Given the description of an element on the screen output the (x, y) to click on. 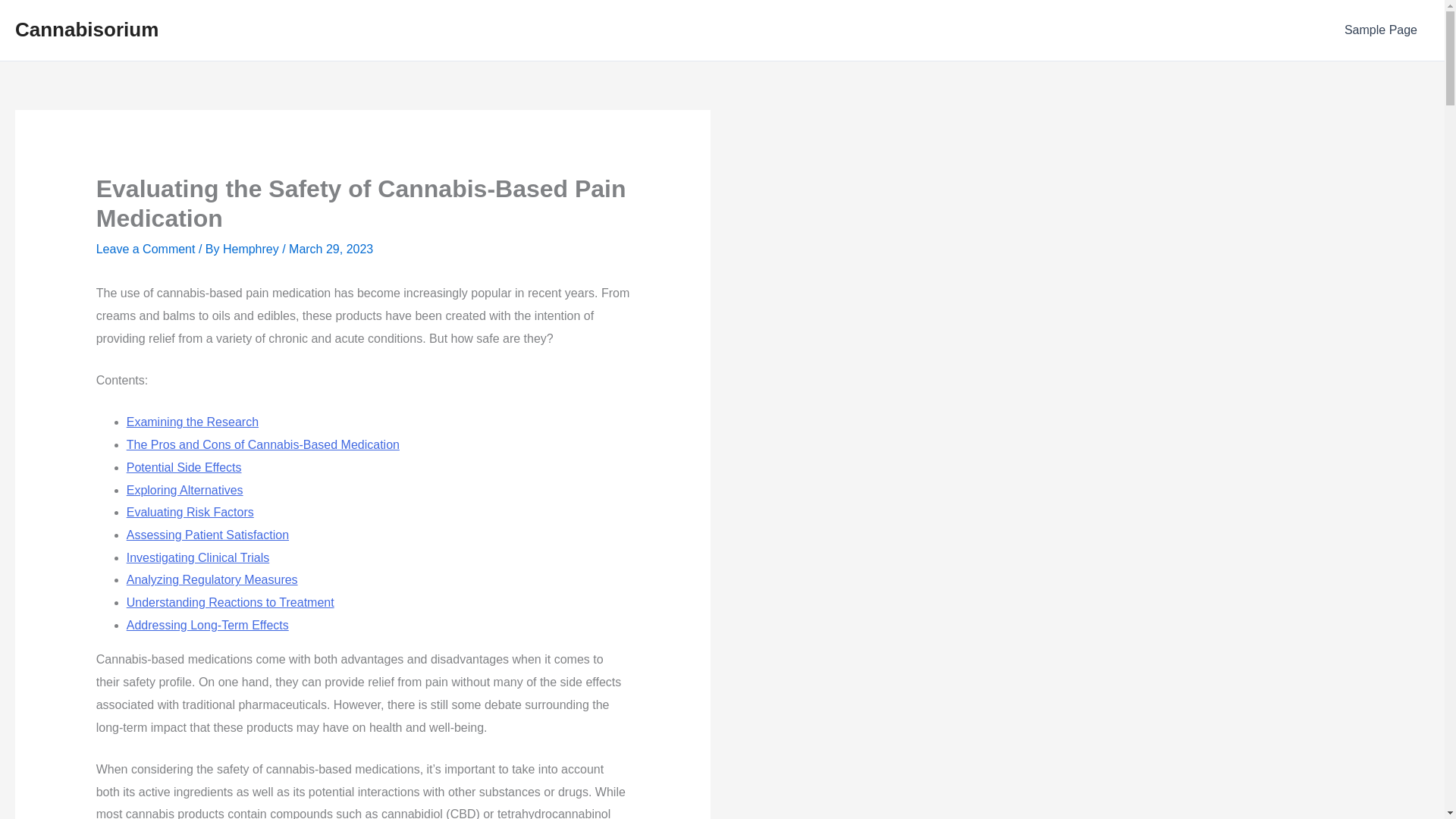
Hemphrey (252, 248)
Examining the Research (192, 421)
Leave a Comment (145, 248)
Exploring Alternatives (184, 490)
Analyzing Regulatory Measures (212, 579)
Potential Side Effects (183, 467)
Evaluating Risk Factors (189, 512)
Cannabisorium (86, 29)
Assessing Patient Satisfaction (207, 534)
Sample Page (1380, 30)
